Given the description of an element on the screen output the (x, y) to click on. 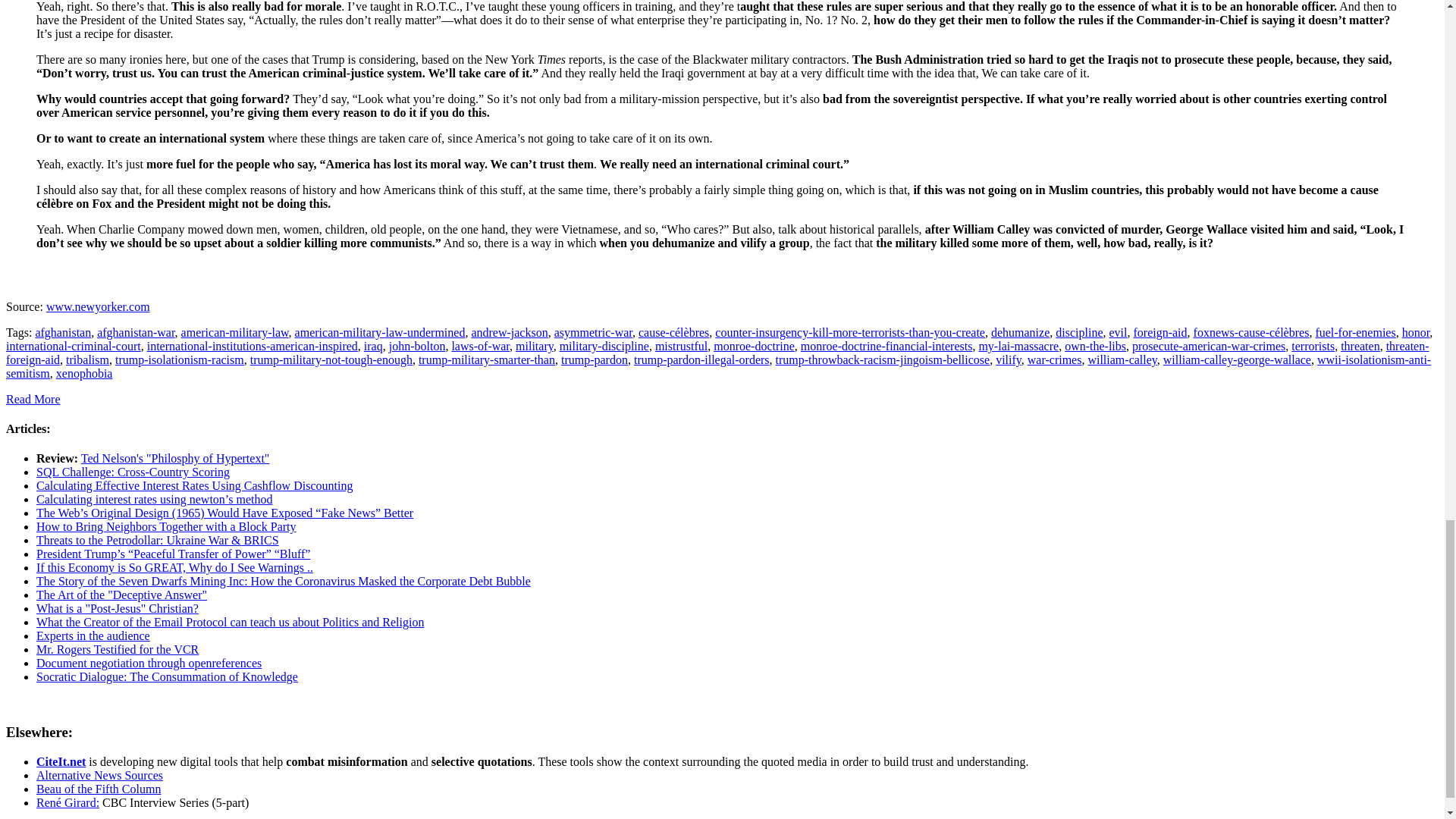
andrew-jackson (508, 332)
www.newyorker.com (97, 306)
american-military-law-undermined (380, 332)
american-military-law (234, 332)
afghanistan-war (135, 332)
afghanistan (62, 332)
discipline (1078, 332)
asymmetric-war (592, 332)
evil (1117, 332)
foreign-aid (1159, 332)
dehumanize (1020, 332)
counter-insurgency-kill-more-terrorists-than-you-create (849, 332)
